Given the description of an element on the screen output the (x, y) to click on. 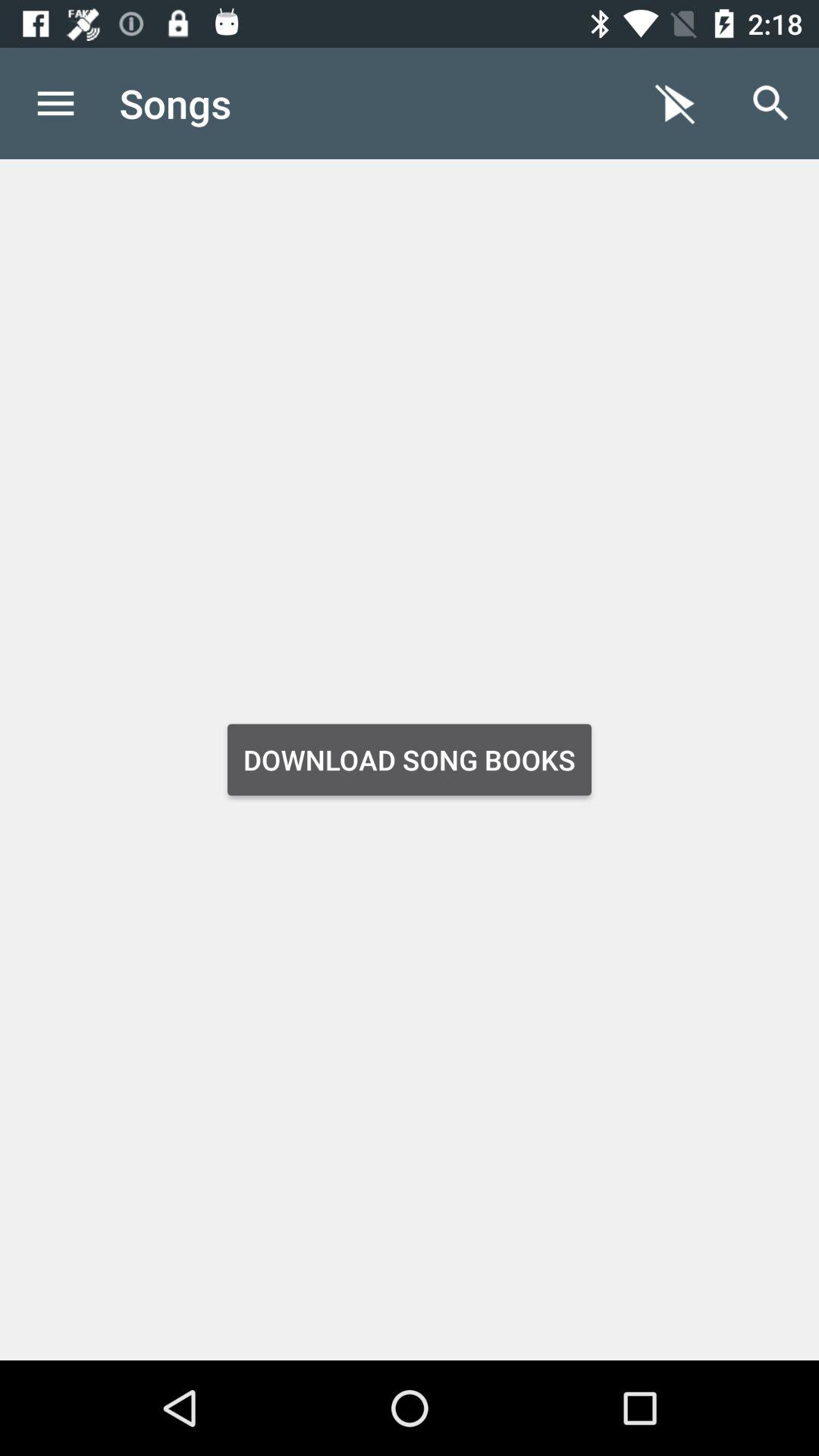
select icon to the left of the songs item (55, 103)
